Given the description of an element on the screen output the (x, y) to click on. 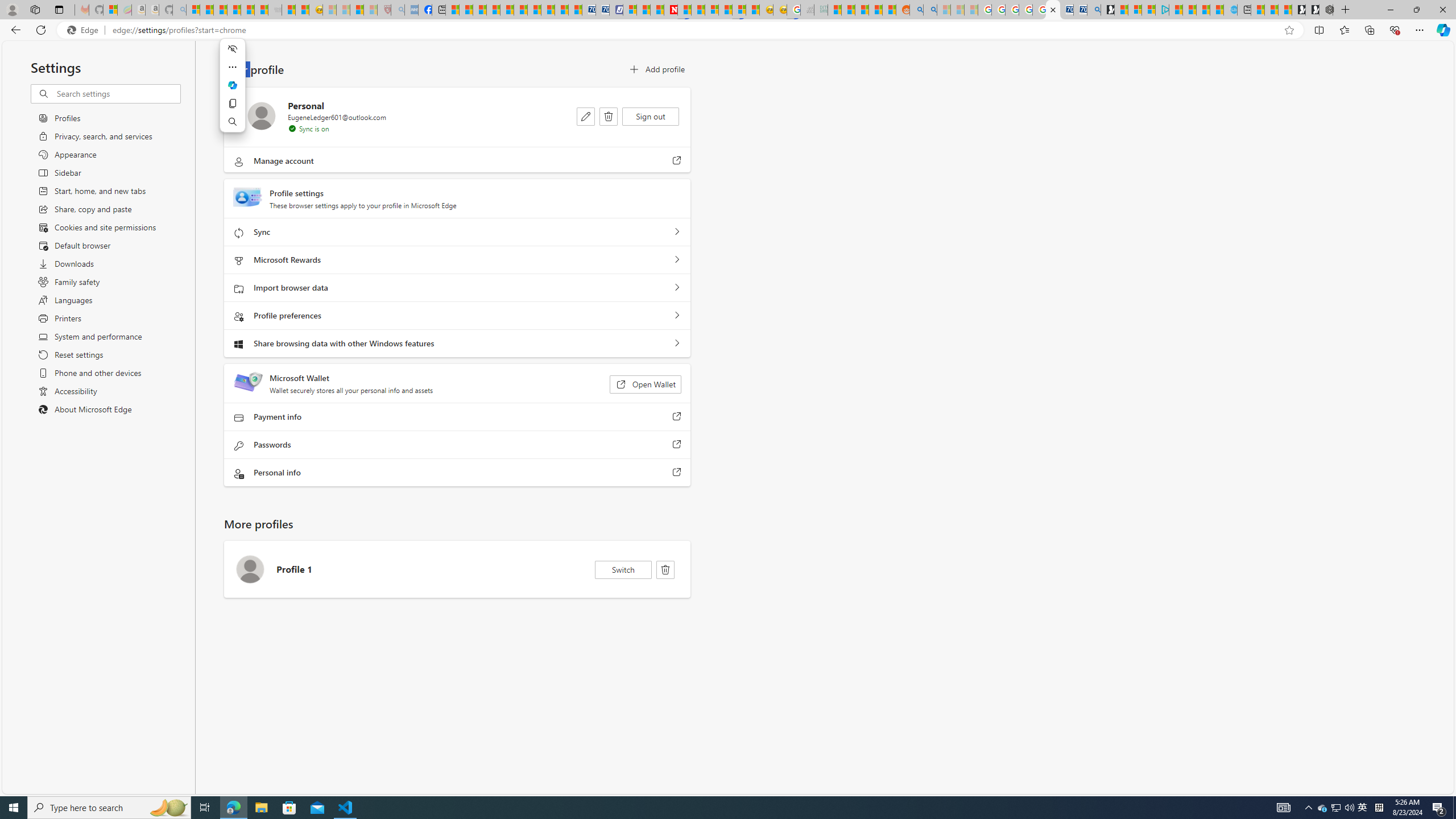
Edge (84, 29)
Nordace - Nordace Siena Is Not An Ordinary Backpack (1326, 9)
Profile 1 Avatar icon (249, 568)
Home | Sky Blue Bikes - Sky Blue Bikes (1229, 9)
More actions (231, 67)
Science - MSN (356, 9)
Bing Real Estate - Home sales and rental listings (1093, 9)
Profile 1 (457, 568)
